Given the description of an element on the screen output the (x, y) to click on. 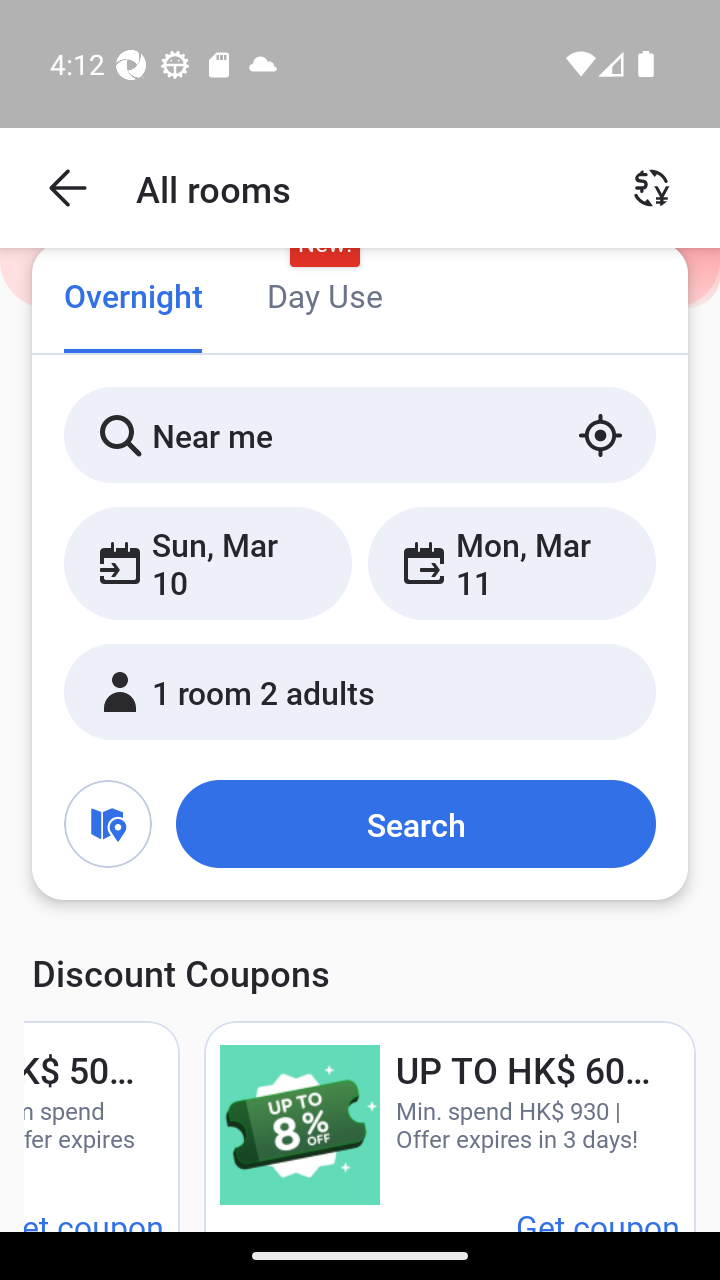
Day Use (324, 298)
Near me (359, 434)
Sun, Mar 10 (208, 562)
Mon, Mar 11 (511, 562)
1 room 2 adults (359, 691)
Search (415, 823)
